Given the description of an element on the screen output the (x, y) to click on. 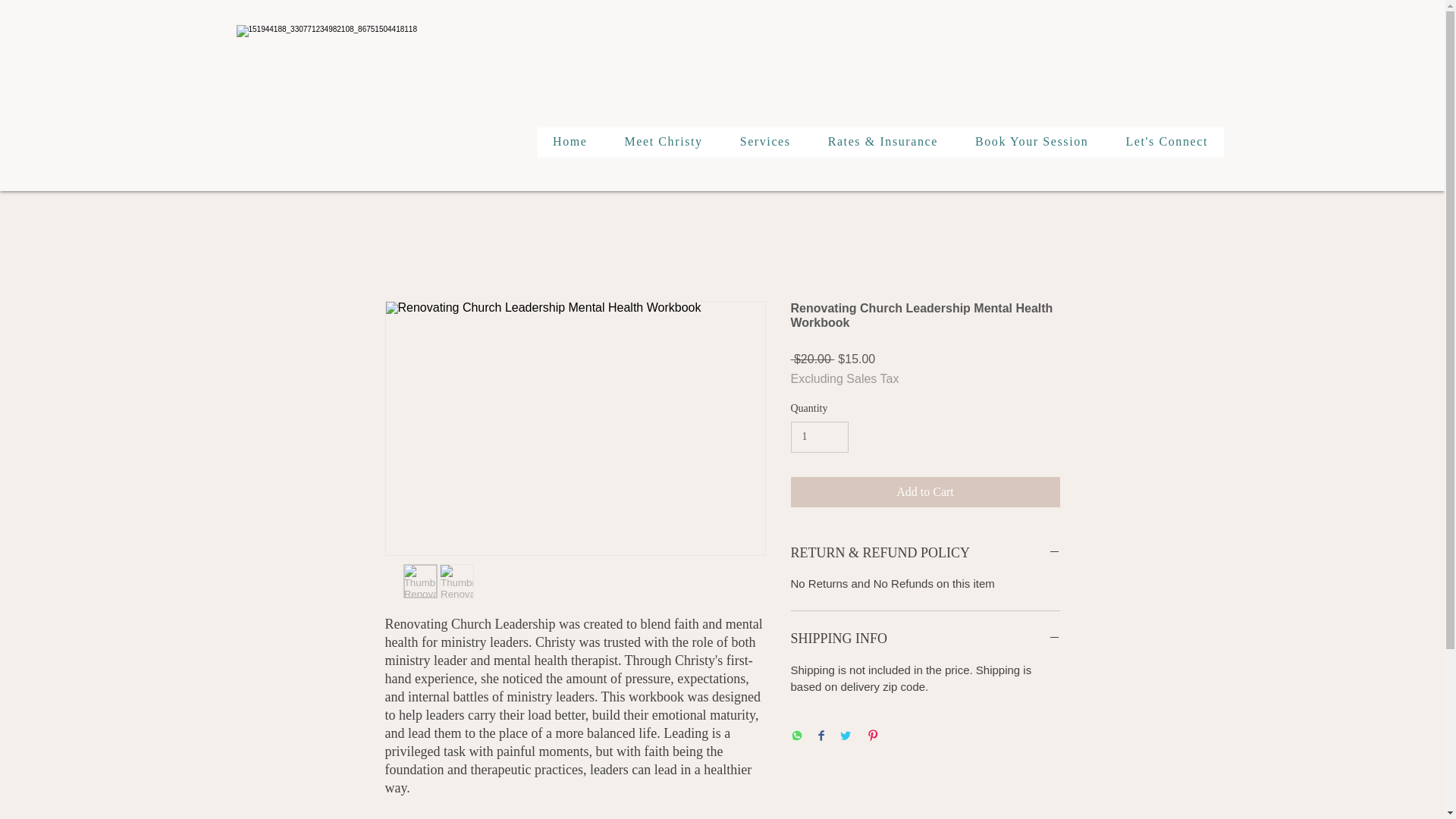
Add to Cart (924, 491)
Home (569, 142)
Meet Christy (662, 142)
Let's Connect (1166, 142)
1 (818, 436)
Book Your Session (1031, 142)
SHIPPING INFO (924, 638)
Services (764, 142)
